Given the description of an element on the screen output the (x, y) to click on. 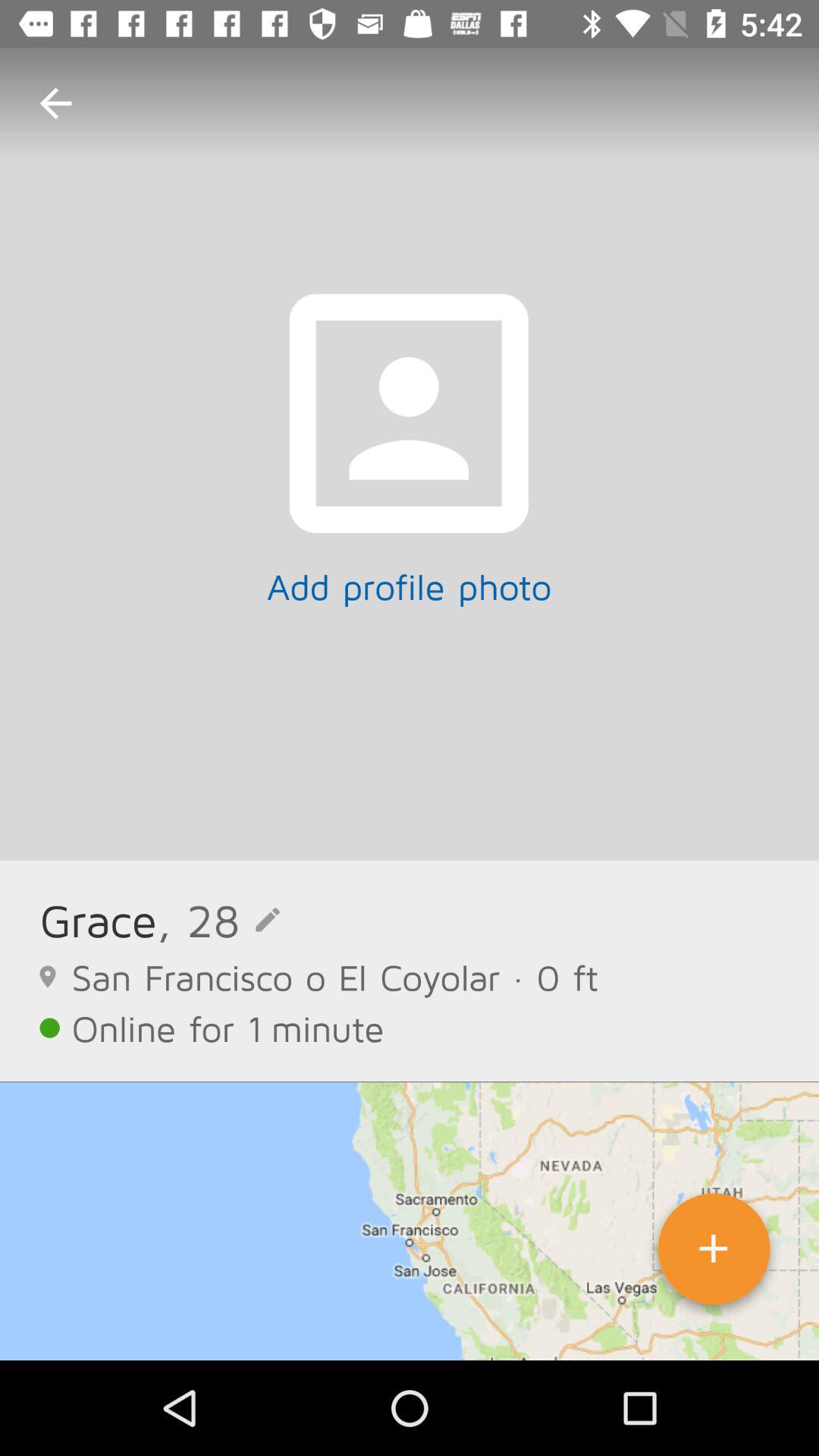
select icon above the grace (55, 103)
